Given the description of an element on the screen output the (x, y) to click on. 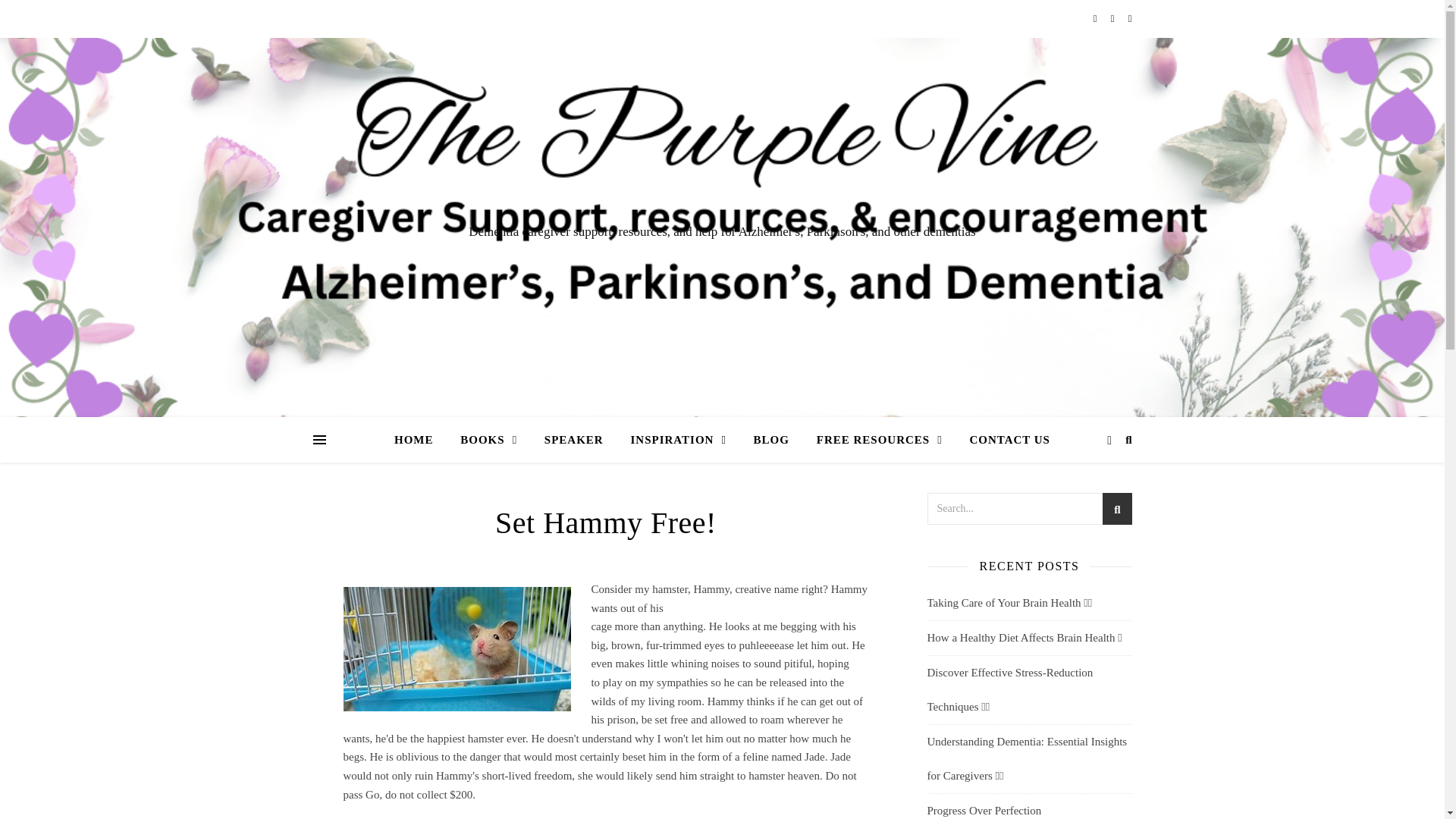
HOME (419, 439)
CONTACT US (1002, 439)
INSPIRATION (677, 439)
BOOKS (488, 439)
SPEAKER (573, 439)
FREE RESOURCES (880, 439)
BLOG (771, 439)
